Given the description of an element on the screen output the (x, y) to click on. 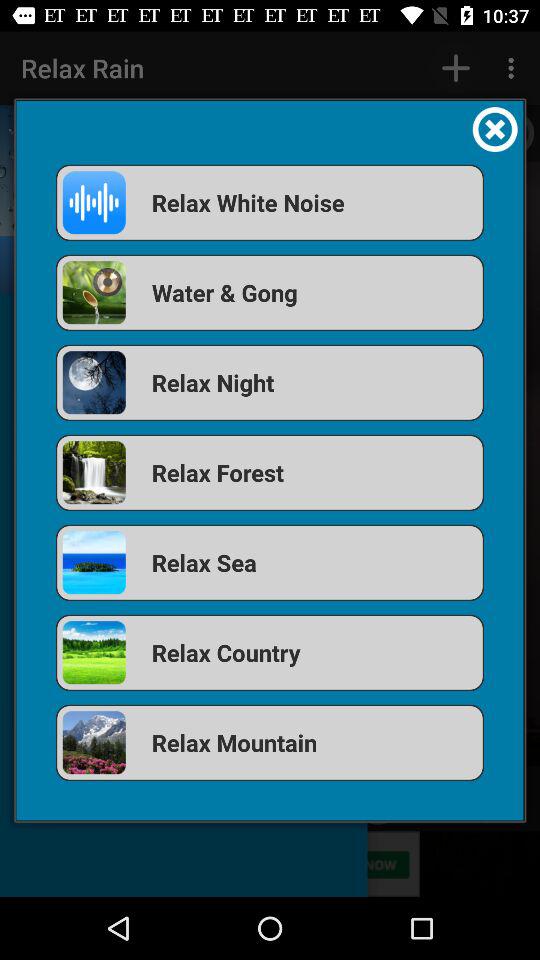
press item above relax sea item (269, 472)
